Given the description of an element on the screen output the (x, y) to click on. 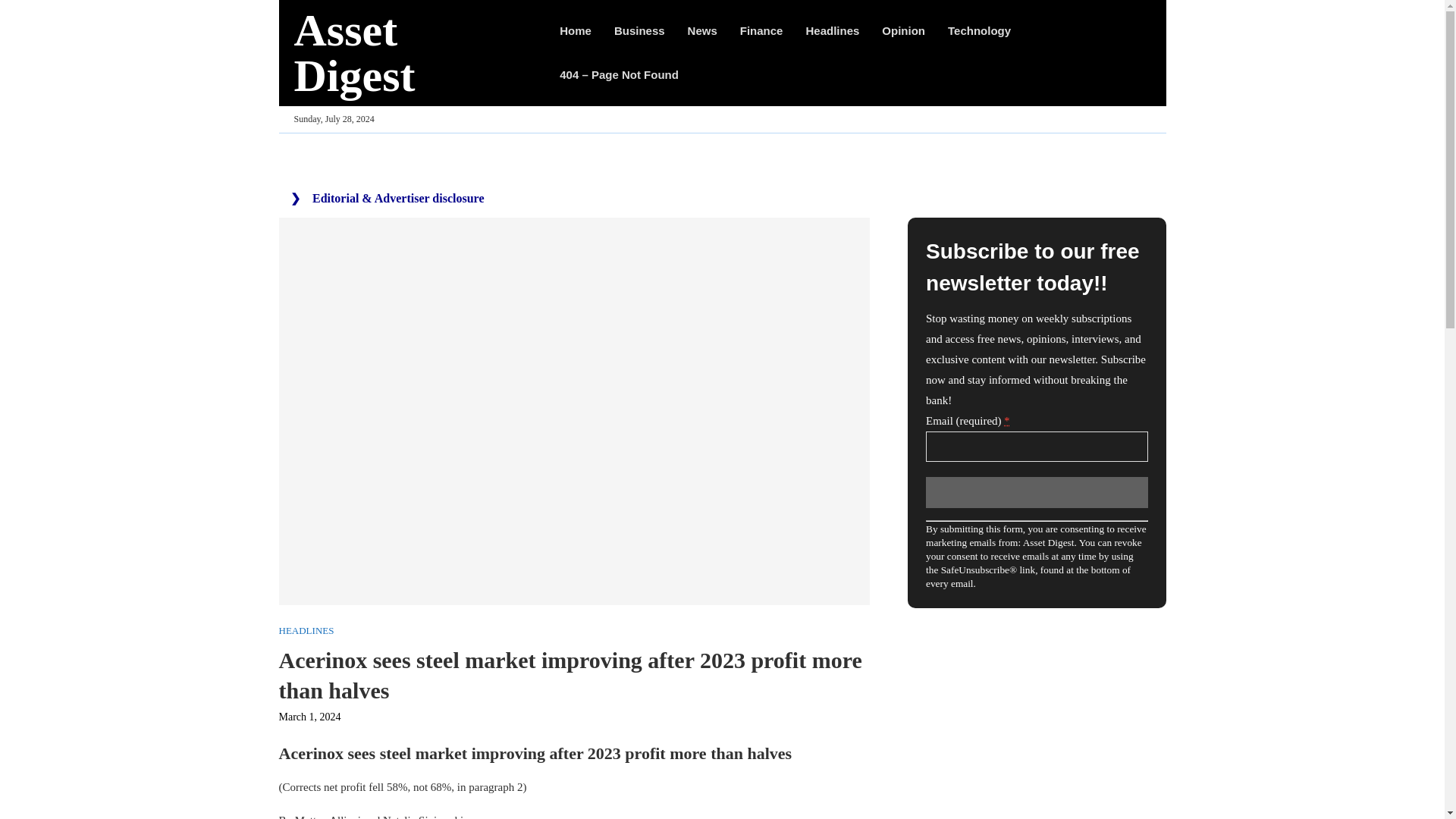
HEADLINES (306, 630)
Headlines (832, 31)
Home (575, 31)
Opinion (903, 31)
Asset Digest (411, 52)
Sign up for free! (1036, 491)
Business (639, 31)
News (702, 31)
Finance (761, 31)
Technology (978, 31)
Business (639, 31)
News (702, 31)
required (1006, 420)
